Given the description of an element on the screen output the (x, y) to click on. 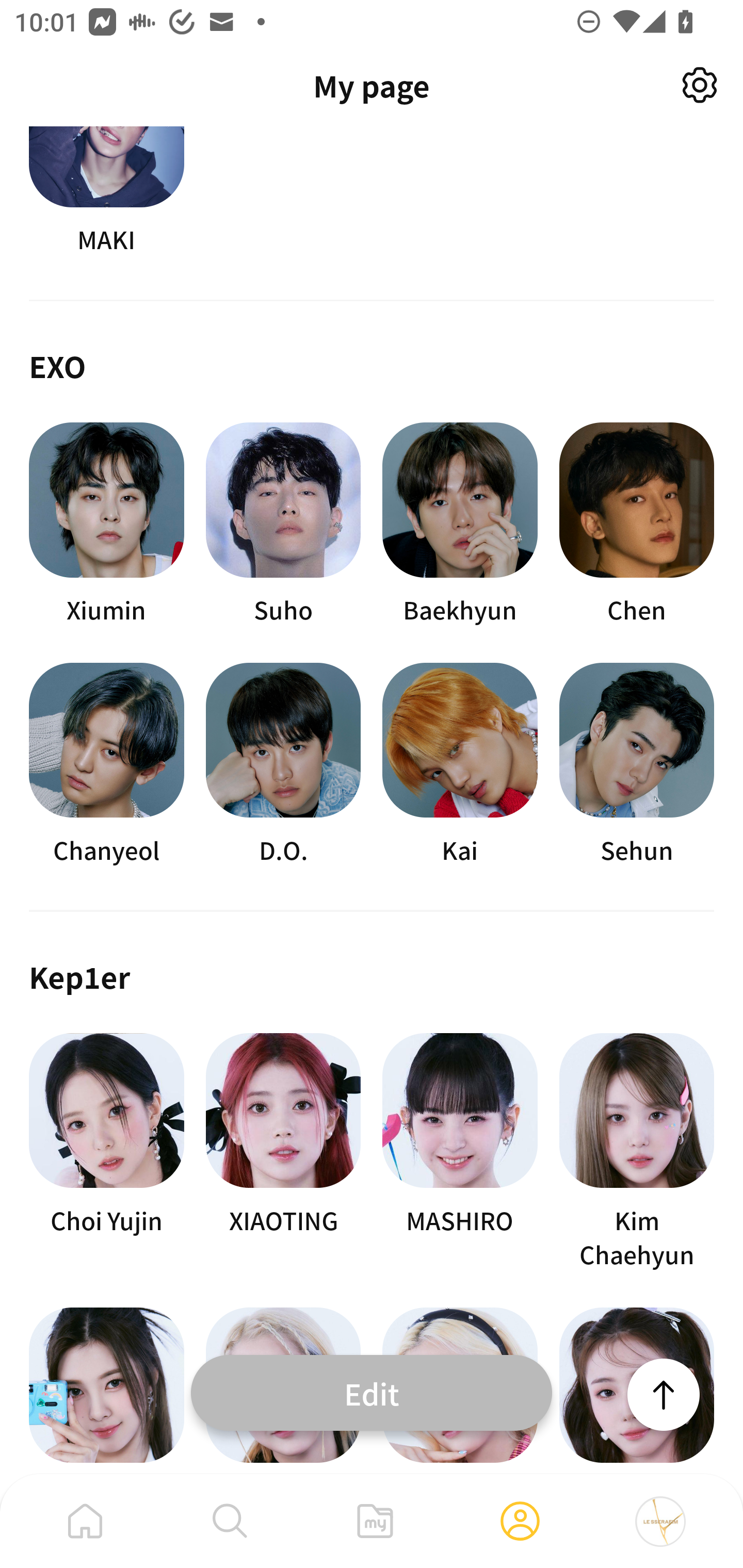
MAKI (106, 191)
Xiumin (106, 524)
Suho (282, 524)
Baekhyun (459, 524)
Chen (636, 524)
Chanyeol (106, 765)
D.O. (282, 765)
Kai (459, 765)
Sehun (636, 765)
Choi Yujin (106, 1152)
XIAOTING (282, 1152)
MASHIRO (459, 1152)
Kim Chaehyun (636, 1152)
Edit (371, 1392)
